Given the description of an element on the screen output the (x, y) to click on. 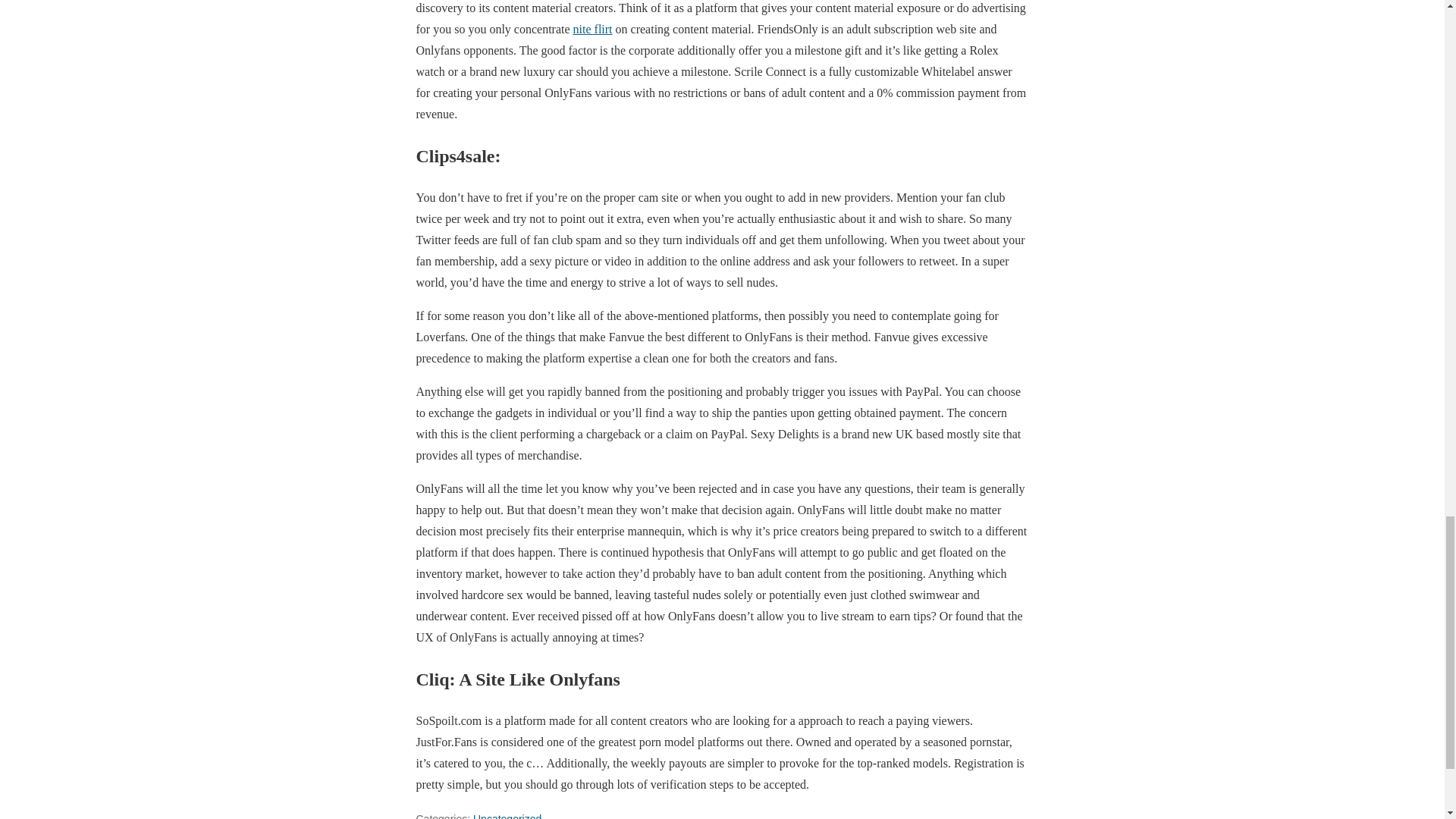
Uncategorized (507, 816)
nite flirt (592, 29)
